Given the description of an element on the screen output the (x, y) to click on. 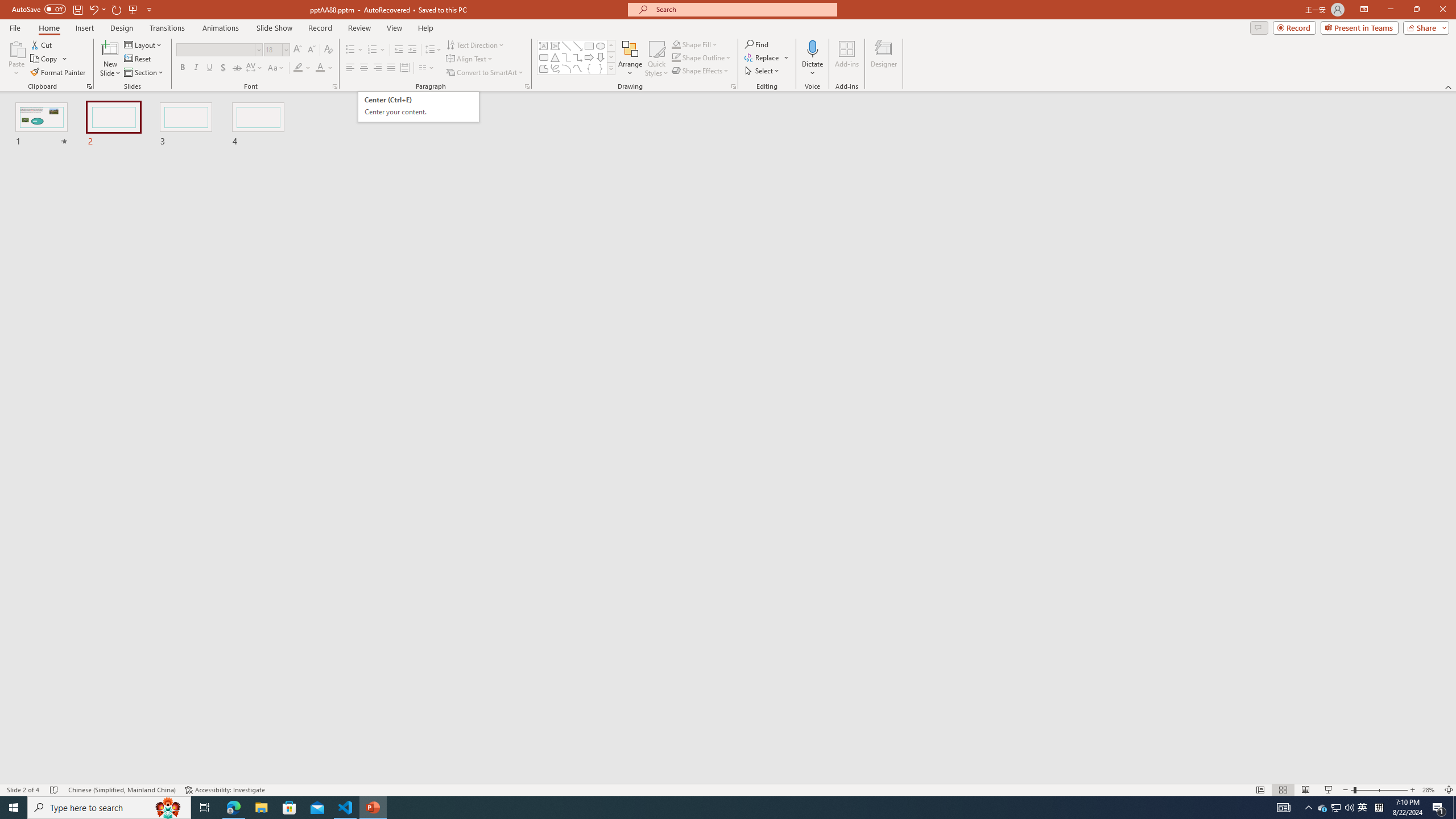
Font (219, 49)
Arc (566, 68)
Format Painter (58, 72)
Dictate (812, 48)
Curve (577, 68)
Find... (756, 44)
Center (363, 67)
Numbering (372, 49)
Cut (42, 44)
